Given the description of an element on the screen output the (x, y) to click on. 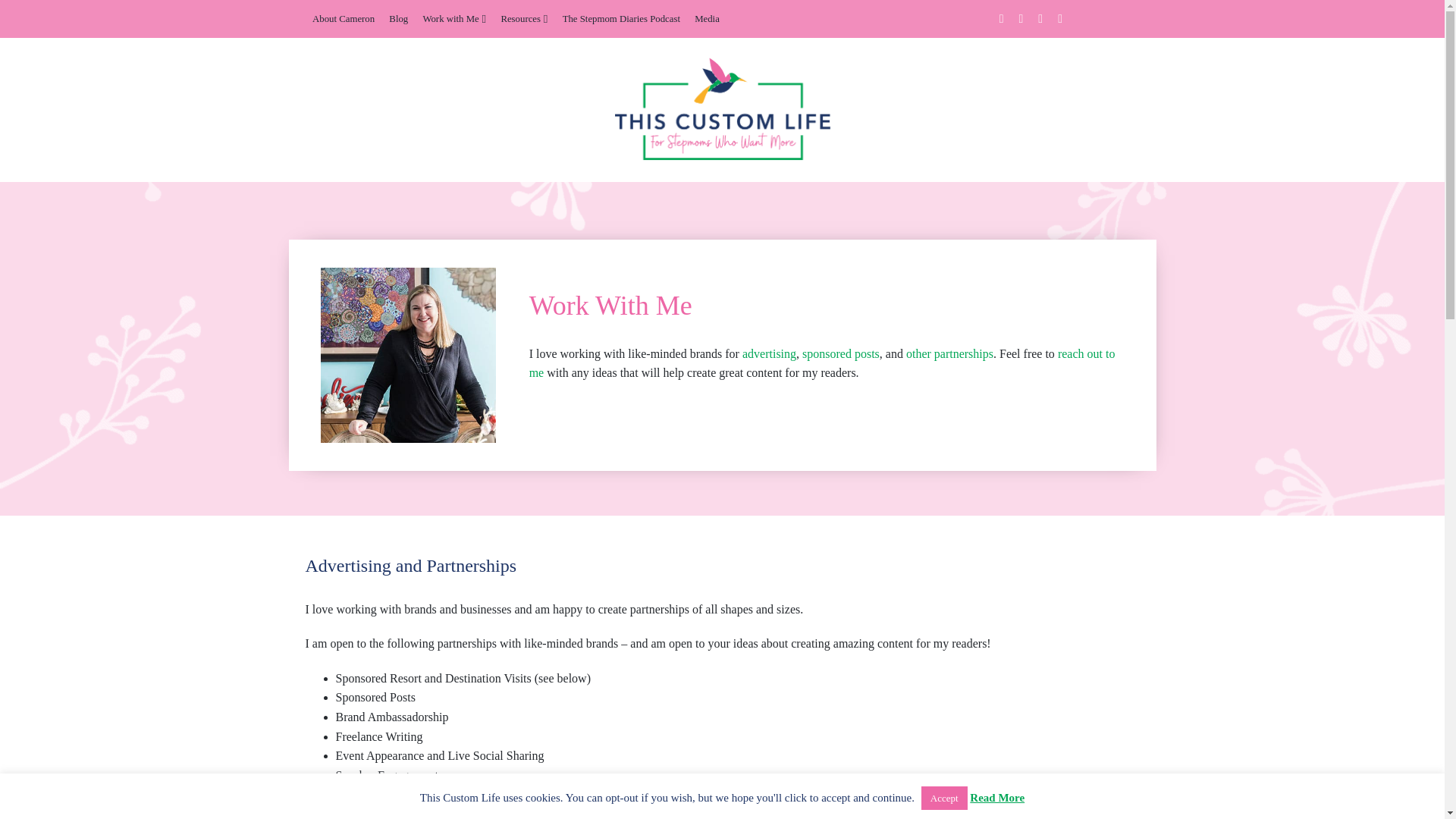
other partnerships (948, 353)
Work with Me (453, 18)
sponsored posts (840, 353)
Cameron-in-dining-room (408, 355)
reach out to me (822, 363)
advertising (769, 353)
The Stepmom Diaries Podcast (620, 18)
Resources (523, 18)
About Cameron (342, 18)
Media (706, 18)
